Given the description of an element on the screen output the (x, y) to click on. 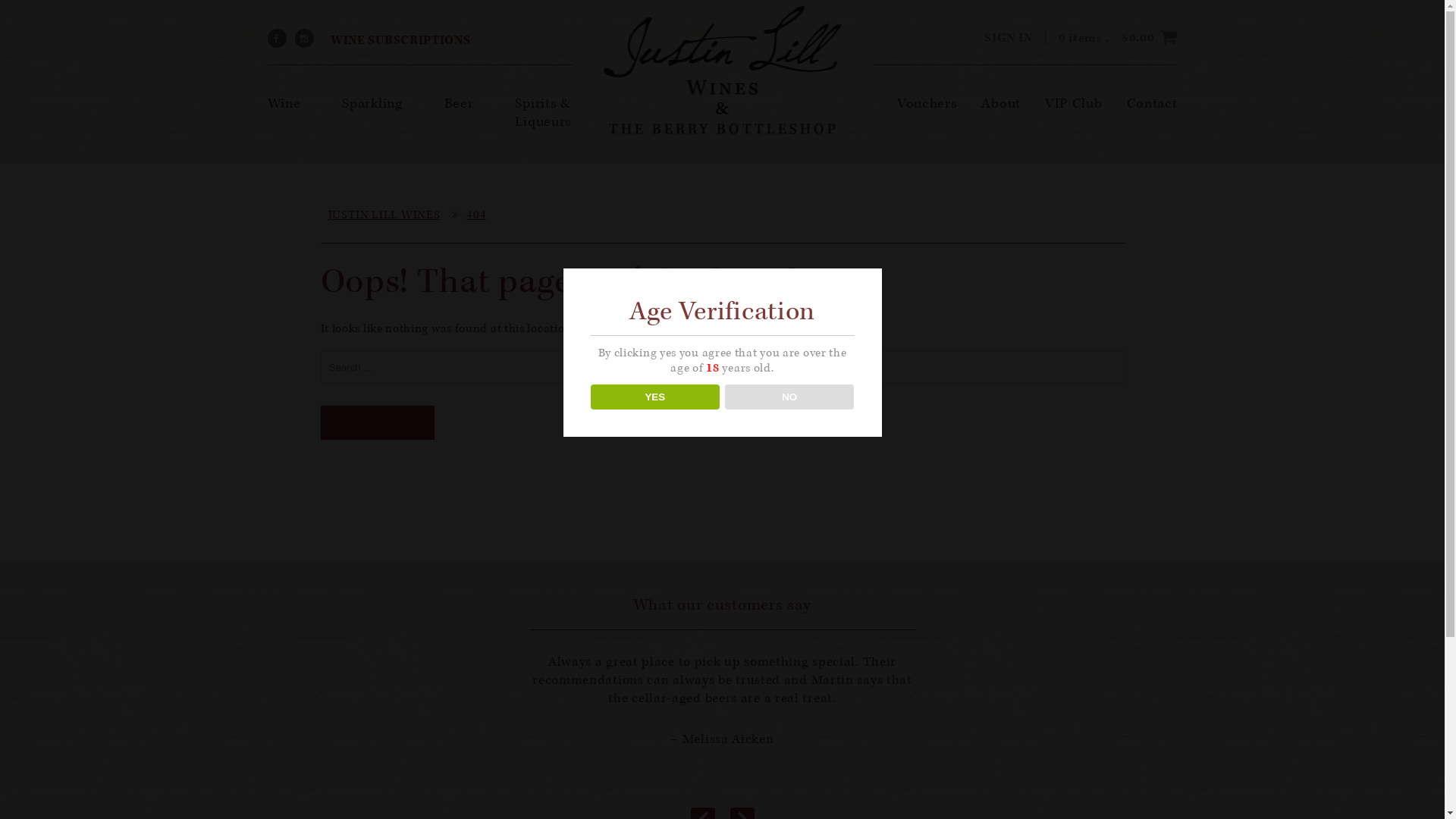
Search Element type: text (376, 422)
JUSTIN LILL WINES Element type: text (383, 214)
Justin Lill Wines Element type: hover (721, 70)
NO Element type: text (789, 396)
Search for: Element type: hover (721, 366)
Wine Element type: text (283, 103)
WINE SUBSCRIPTIONS Element type: text (396, 39)
SIGN IN Element type: text (1008, 37)
Vouchers Element type: text (927, 103)
YES Element type: text (655, 396)
Beer Element type: text (458, 103)
Spirits & Liqueurs Element type: text (542, 112)
About Element type: text (1000, 103)
Contact Element type: text (1151, 103)
0 items , $0.00 Element type: text (1117, 37)
Sparkling Element type: text (371, 103)
VIP Club Element type: text (1073, 103)
